Given the description of an element on the screen output the (x, y) to click on. 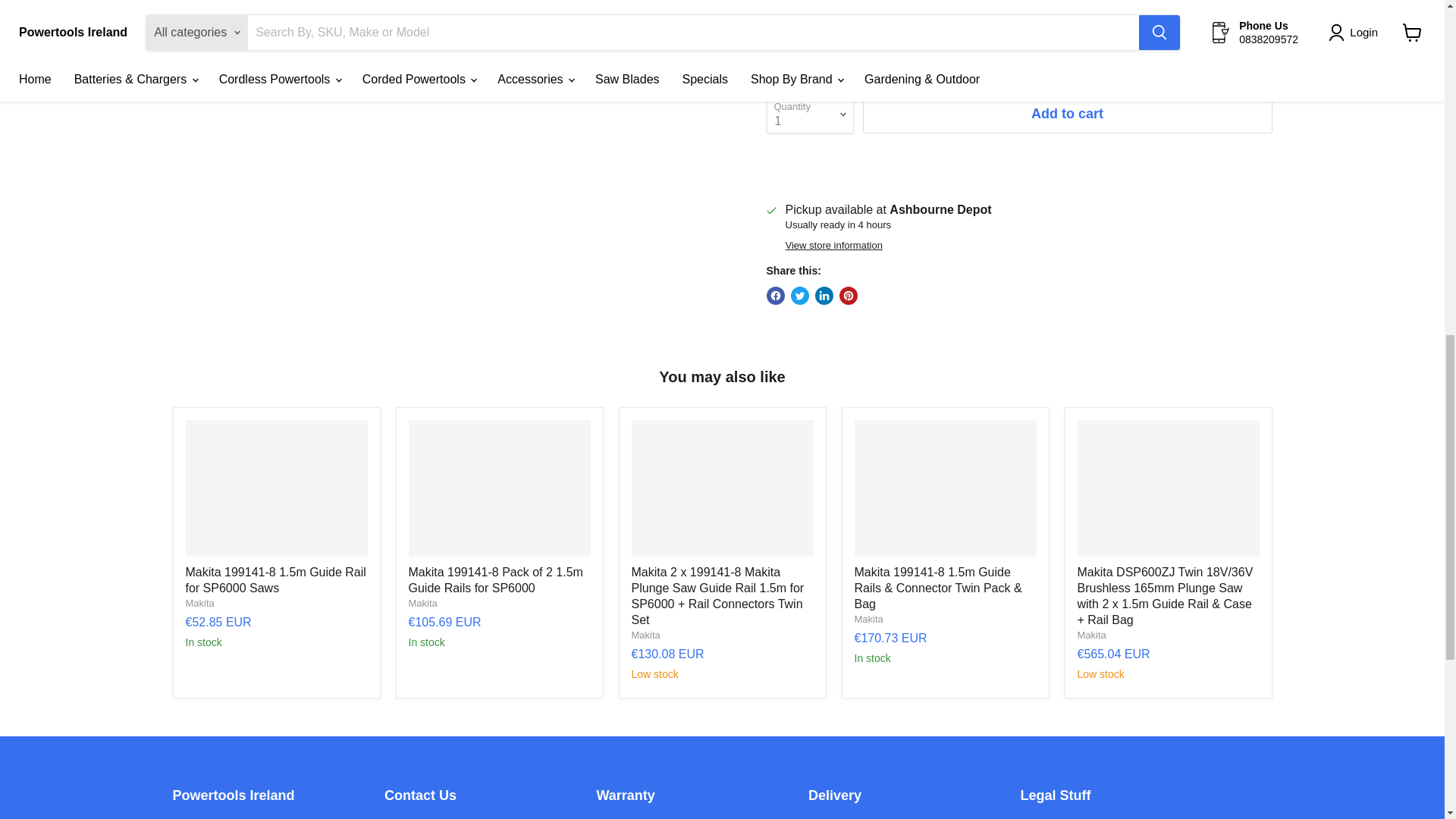
Makita (867, 618)
Makita (644, 634)
Makita (1091, 634)
Makita (199, 603)
Makita (421, 603)
